Given the description of an element on the screen output the (x, y) to click on. 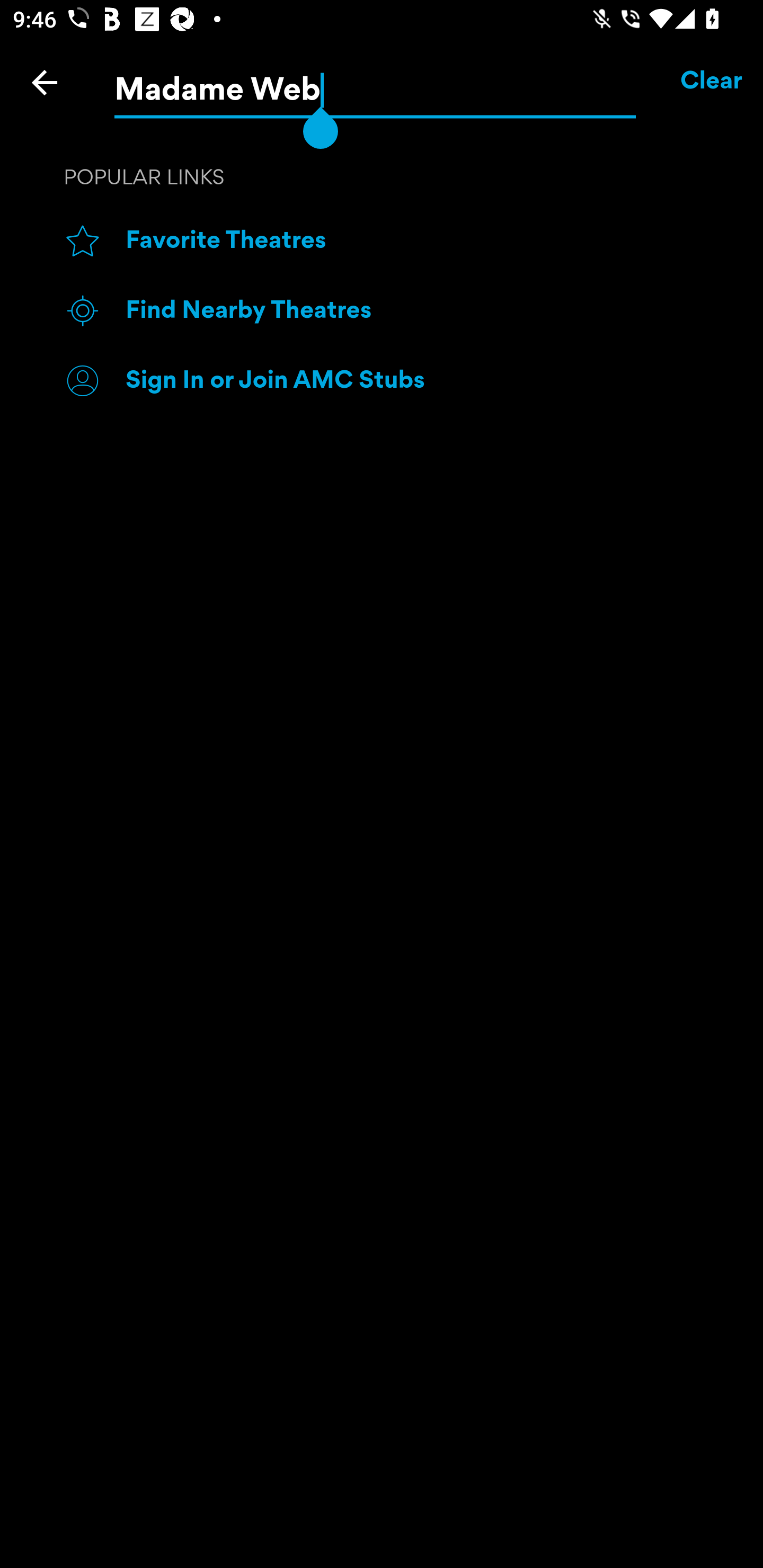
Back (44, 82)
Clear (712, 82)
Madame Web (374, 82)
Favorite Theatres (413, 241)
Find Nearby Theatres (413, 310)
Sign In or Join AMC Stubs (413, 380)
